Given the description of an element on the screen output the (x, y) to click on. 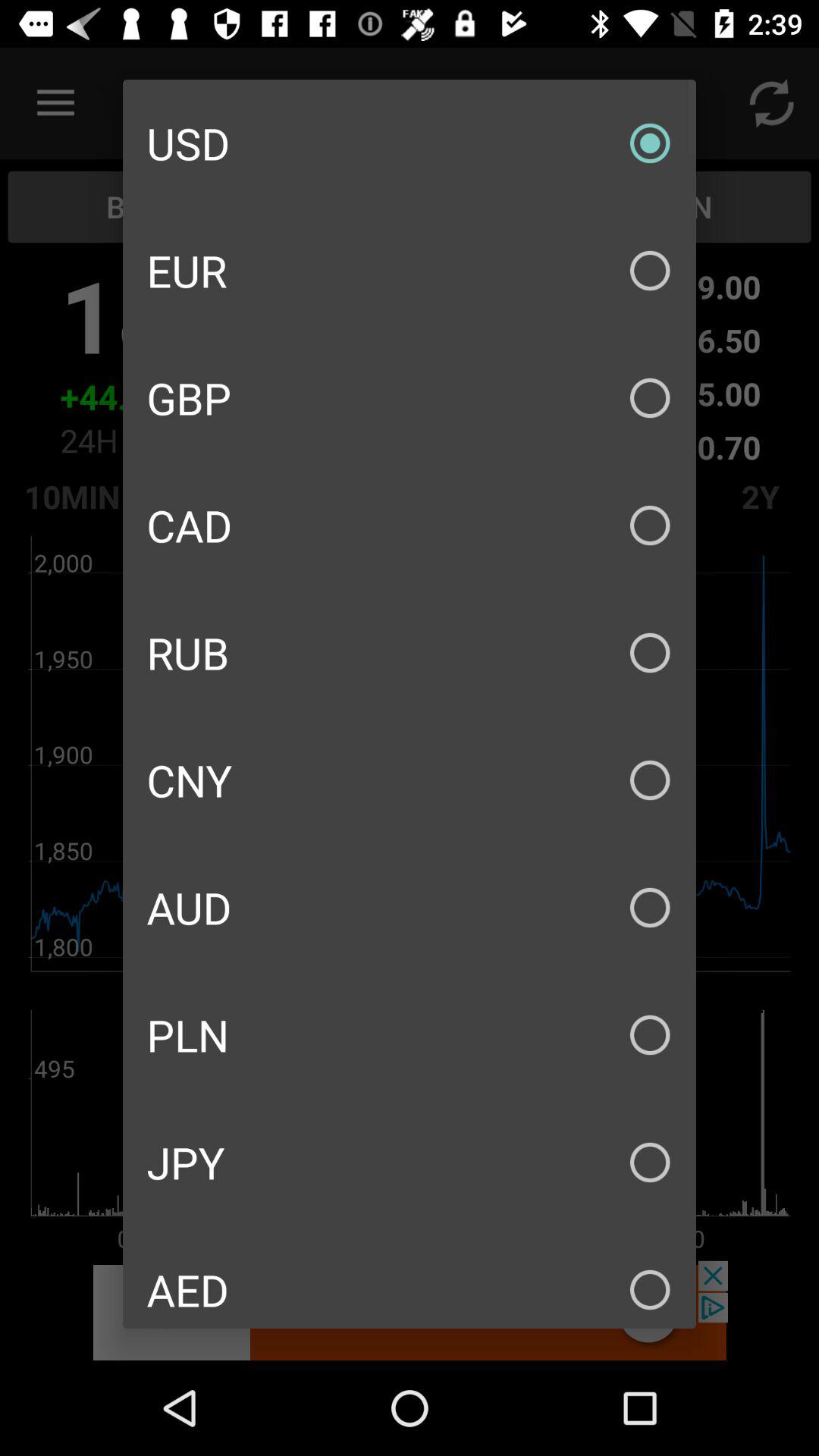
turn off the rub item (409, 652)
